Given the description of an element on the screen output the (x, y) to click on. 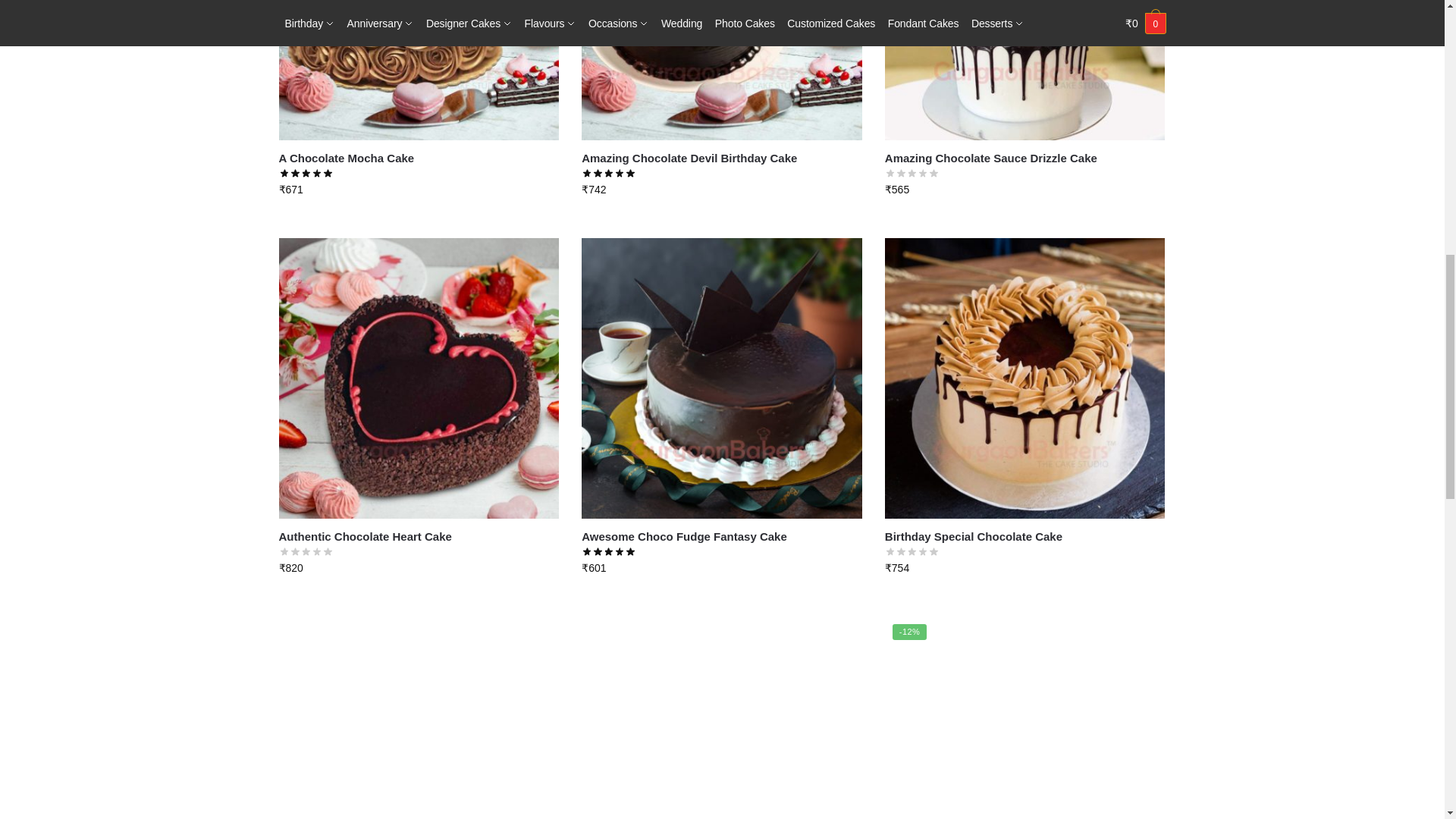
Authentic Chocolate Heart Cake (419, 378)
Choco chip cake (720, 717)
Awesome Choco Fudge Fantasy Cake (720, 378)
Amazing  Chocolate Devil Birthday Cake (720, 70)
Choco-X-plosion Cake (1025, 717)
Black Forest Pull Up Cake (419, 717)
A Chocolate Mocha Cake (419, 70)
Amazing Chocolate Sauce Drizzle Cake (1025, 70)
Birthday Special Chocolate Cake (1025, 378)
